Given the description of an element on the screen output the (x, y) to click on. 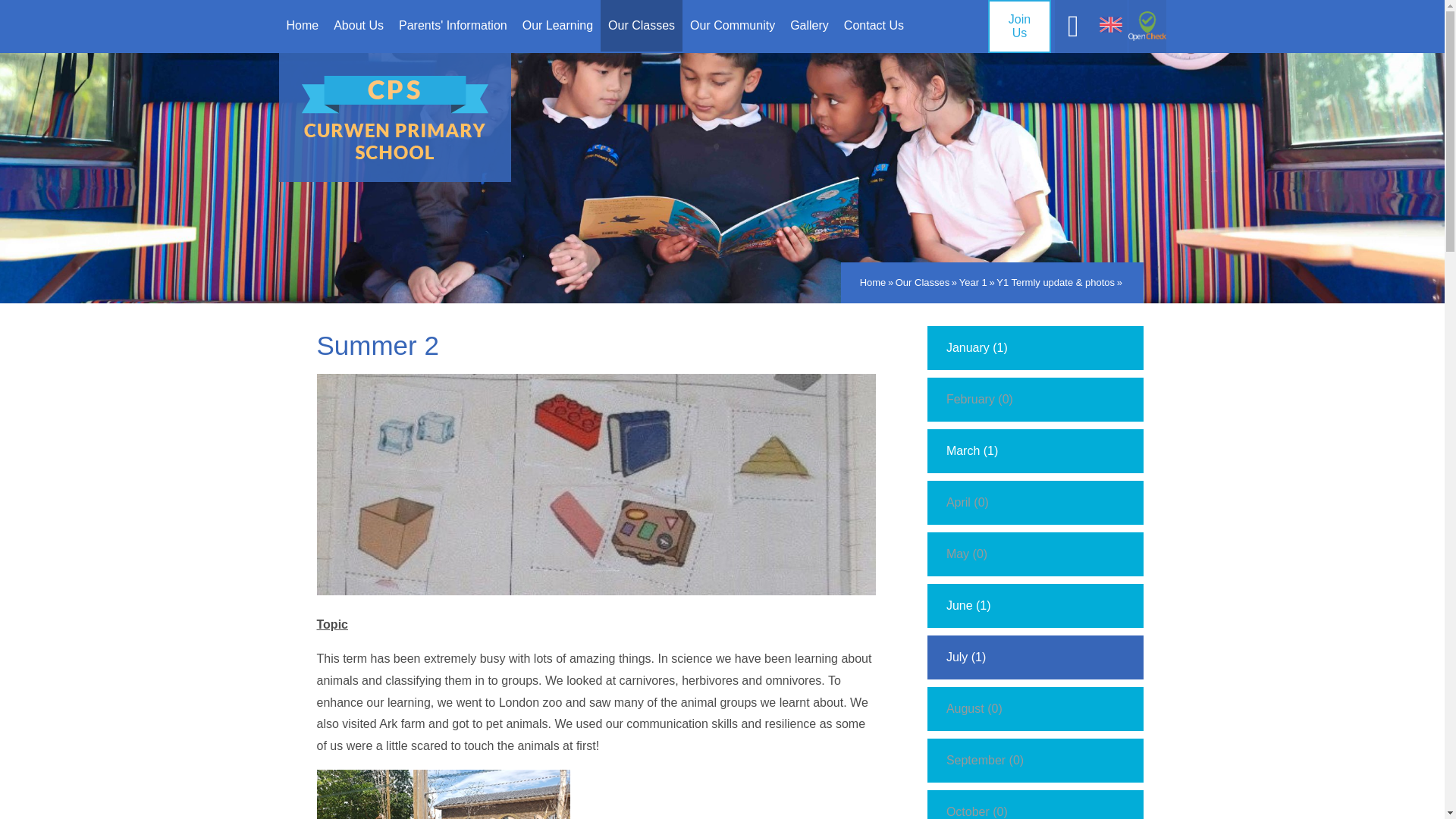
Home (302, 25)
Parents' Information (453, 25)
About Us (358, 25)
